Given the description of an element on the screen output the (x, y) to click on. 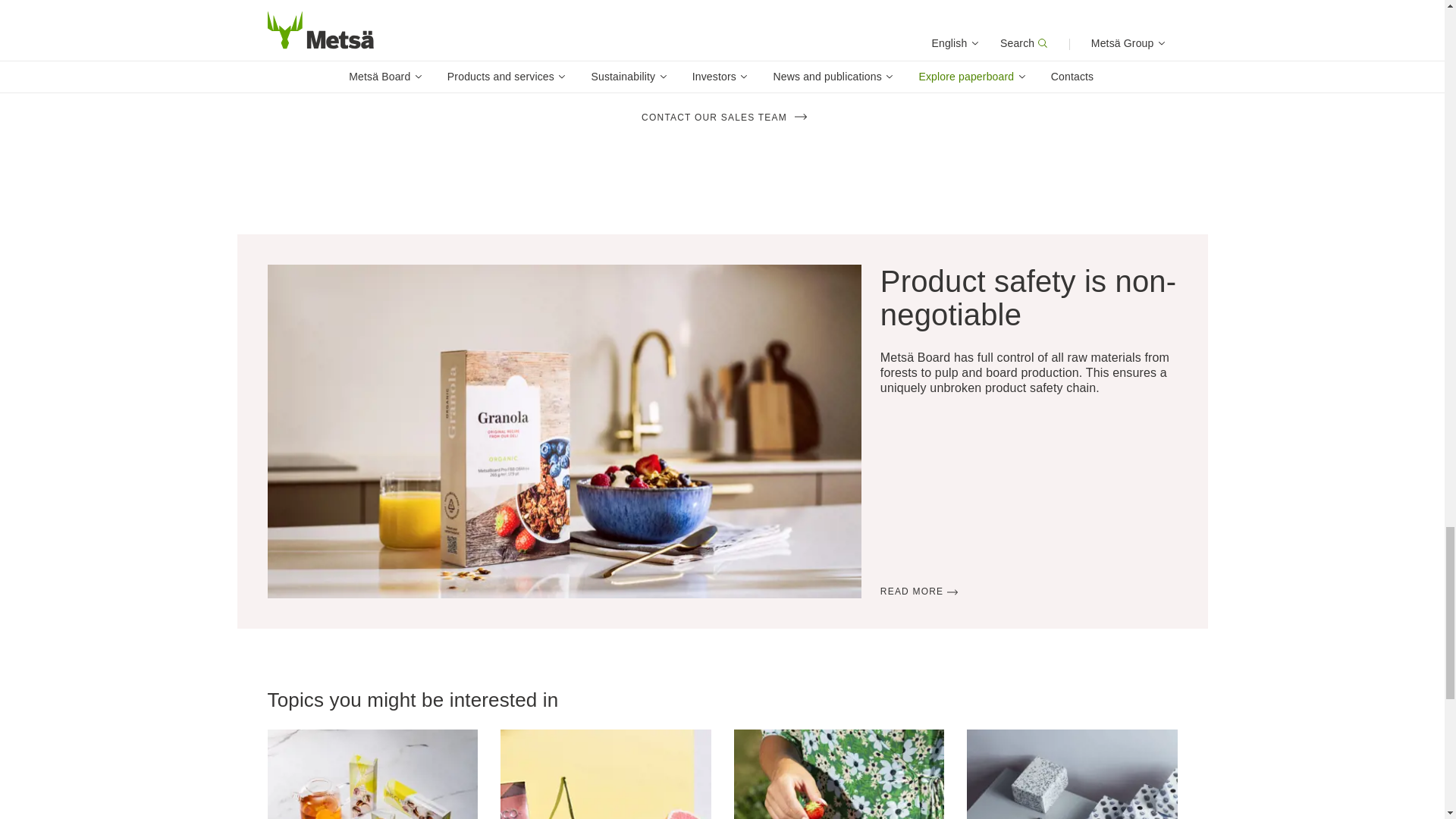
Product safety is non-negotiable (919, 591)
